Given the description of an element on the screen output the (x, y) to click on. 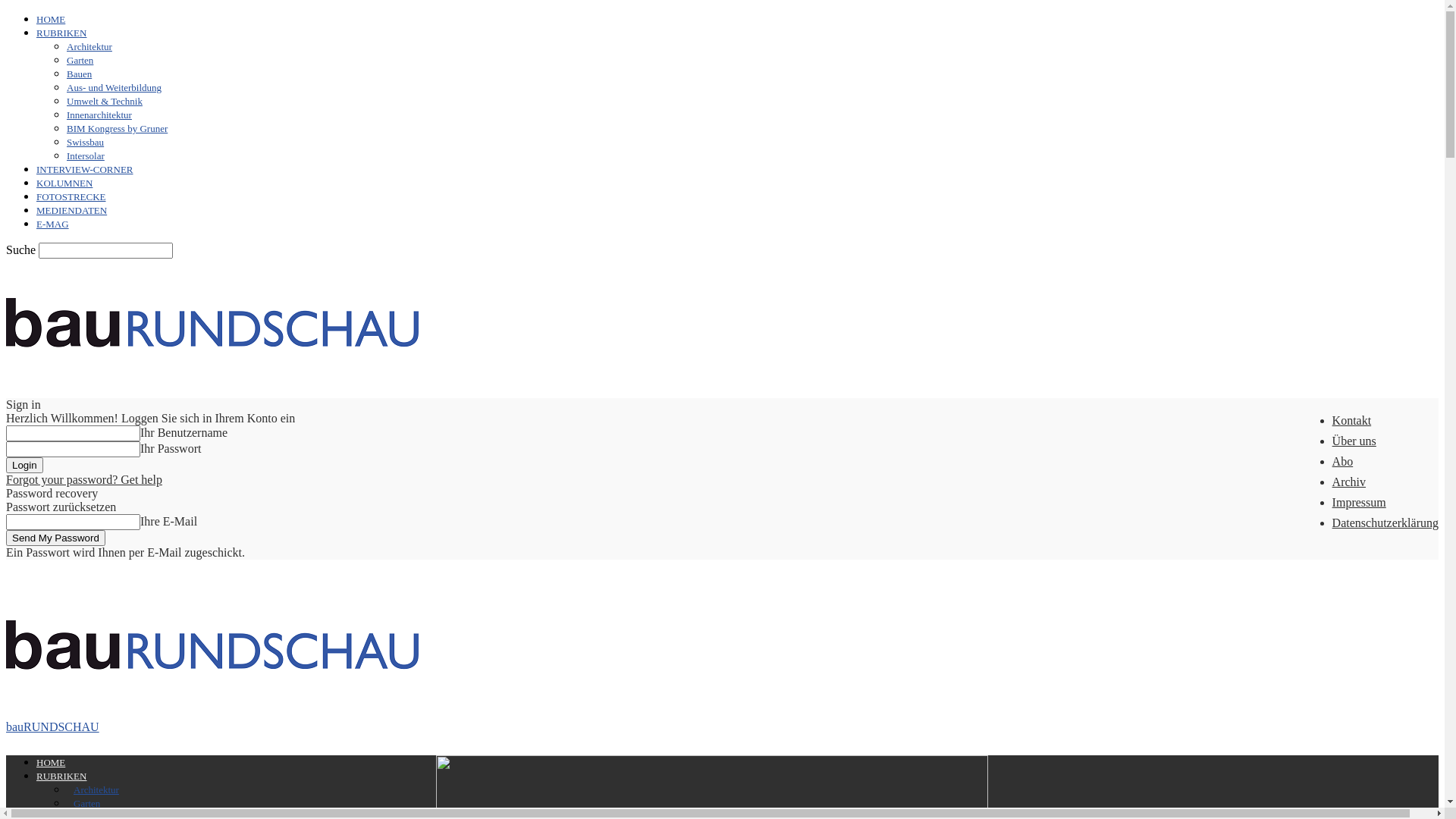
Innenarchitektur Element type: text (98, 114)
KOLUMNEN Element type: text (64, 182)
E-MAG Element type: text (52, 223)
bauRUNDSCHAU Element type: text (212, 719)
Swissbau Element type: text (84, 141)
Architektur Element type: text (89, 46)
RUBRIKEN Element type: text (61, 32)
Umwelt & Technik Element type: text (104, 100)
Impressum Element type: text (1359, 501)
Abo Element type: text (1342, 461)
RUBRIKEN Element type: text (61, 775)
bauRUNDSCHAU Element type: hover (212, 326)
Garten Element type: text (86, 803)
INTERVIEW-CORNER Element type: text (84, 169)
MEDIENDATEN Element type: text (71, 210)
Intersolar Element type: text (85, 155)
Bauen Element type: text (78, 73)
Aus- und Weiterbildung Element type: text (113, 87)
Kontakt Element type: text (1351, 420)
bauRUNDSCHAU Element type: hover (212, 648)
Architektur Element type: text (95, 789)
BIM Kongress by Gruner Element type: text (116, 128)
Forgot your password? Get help Element type: text (84, 479)
Garten Element type: text (79, 59)
HOME Element type: text (50, 762)
FOTOSTRECKE Element type: text (71, 196)
HOME Element type: text (50, 19)
Archiv Element type: text (1348, 481)
